Given the description of an element on the screen output the (x, y) to click on. 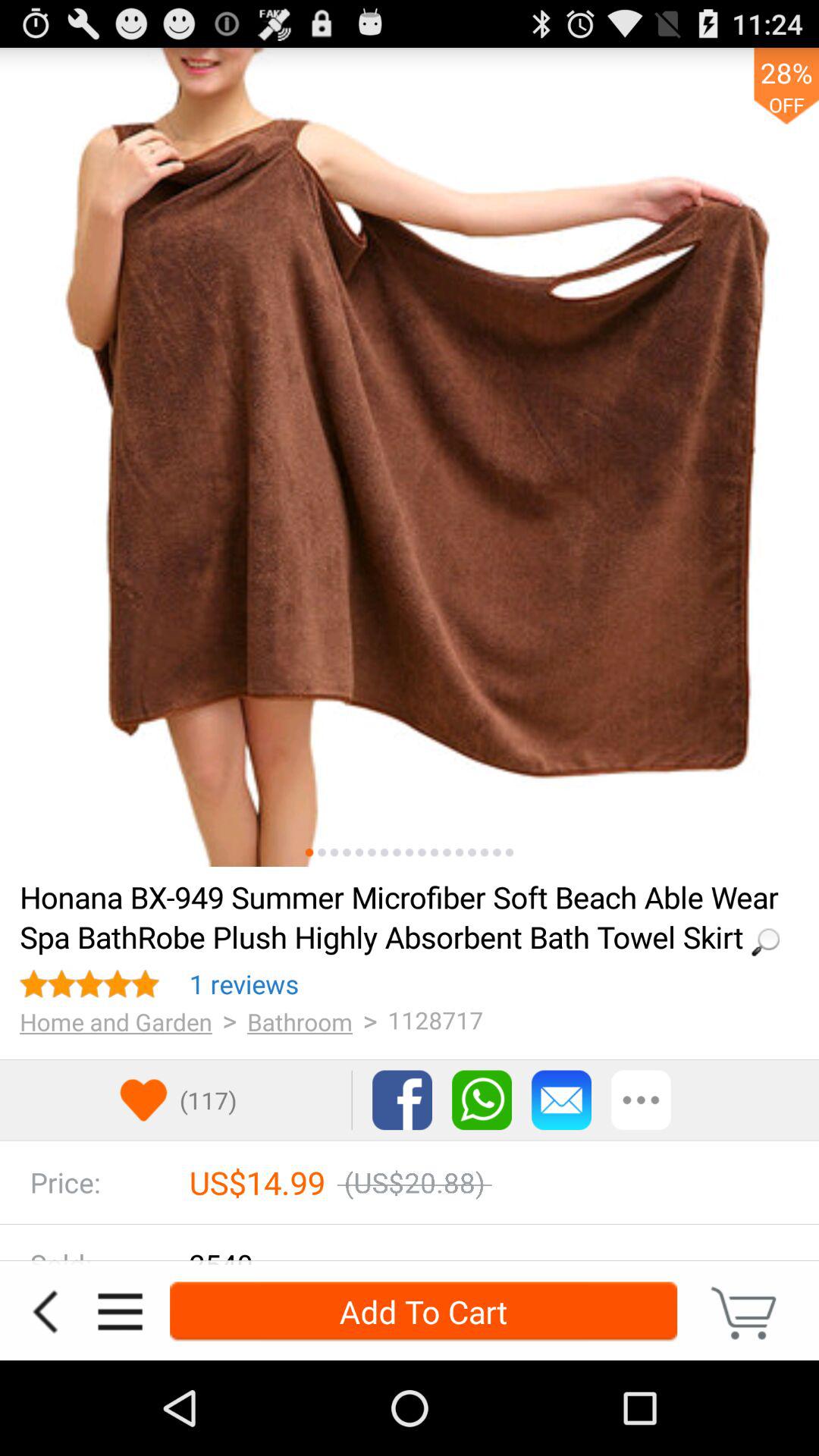
see image (359, 852)
